Given the description of an element on the screen output the (x, y) to click on. 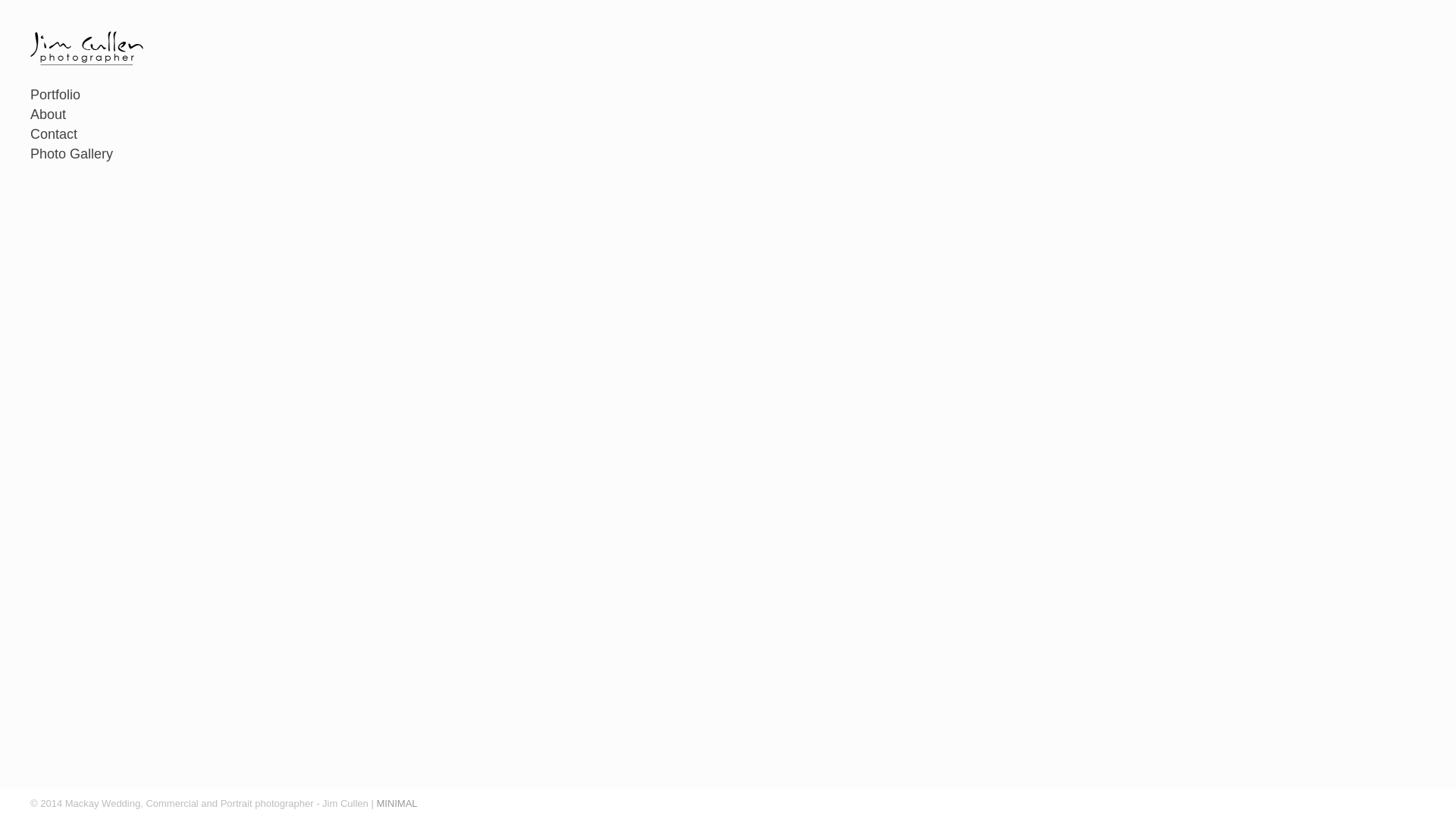
Portfolio Element type: text (87, 95)
Contact Element type: text (87, 134)
MINIMAL Element type: text (396, 803)
Photo Gallery Element type: text (87, 154)
About Element type: text (87, 114)
